Given the description of an element on the screen output the (x, y) to click on. 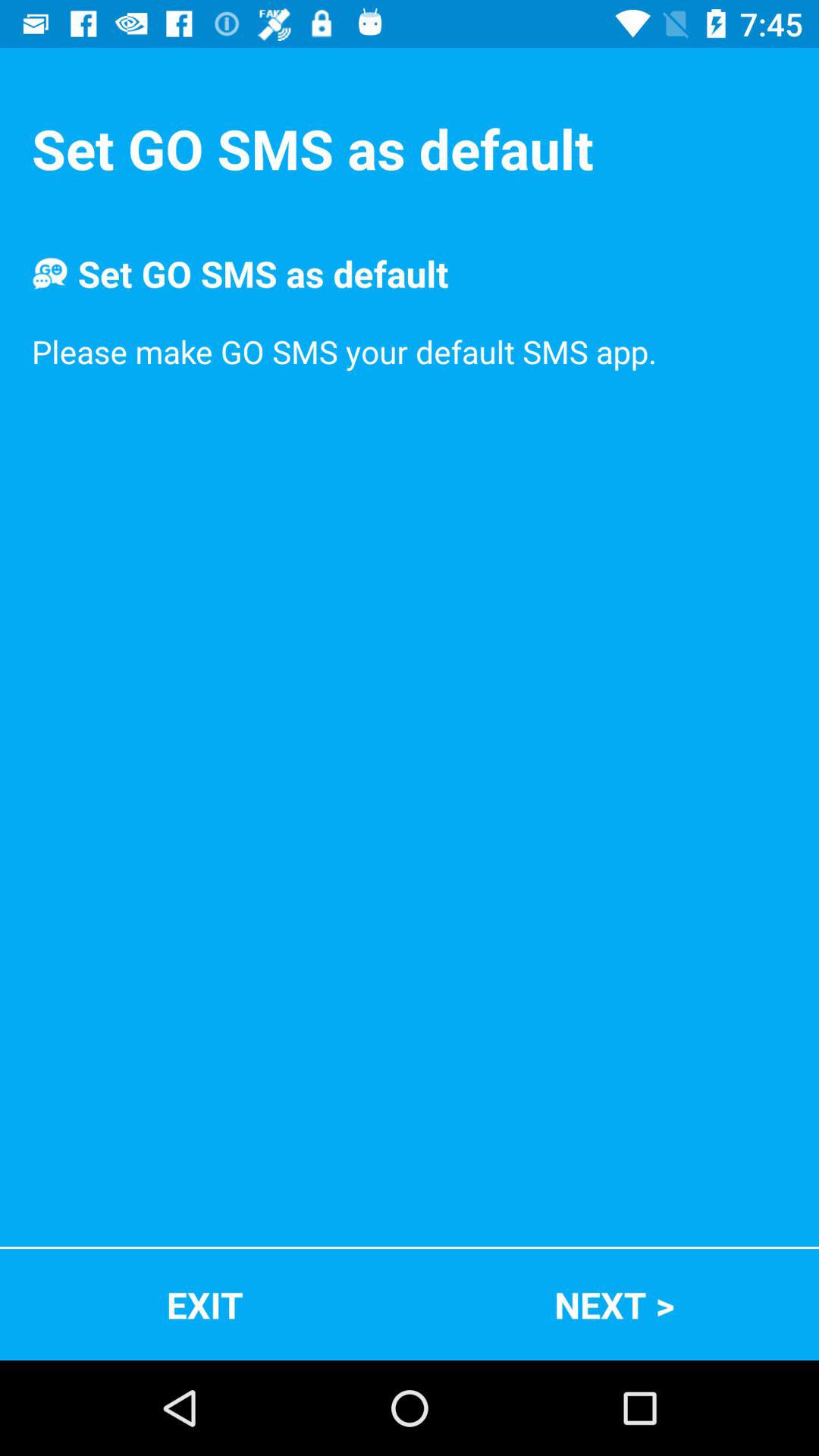
press item next to the next > item (204, 1304)
